Given the description of an element on the screen output the (x, y) to click on. 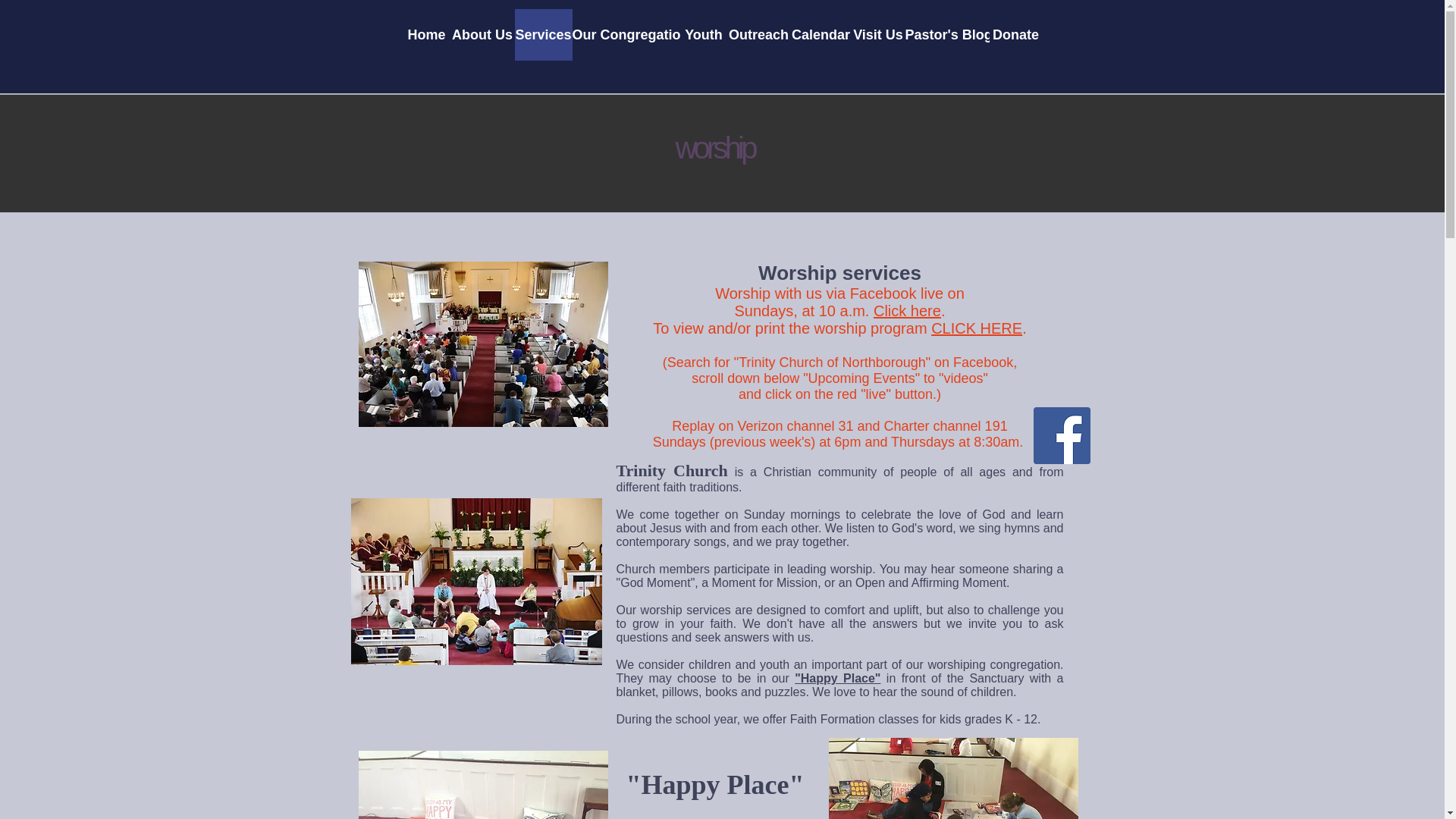
Calendar (820, 34)
Our Congregation (625, 34)
Outreach (758, 34)
Services (542, 34)
Youth (703, 34)
Home (426, 34)
About Us (482, 34)
